Given the description of an element on the screen output the (x, y) to click on. 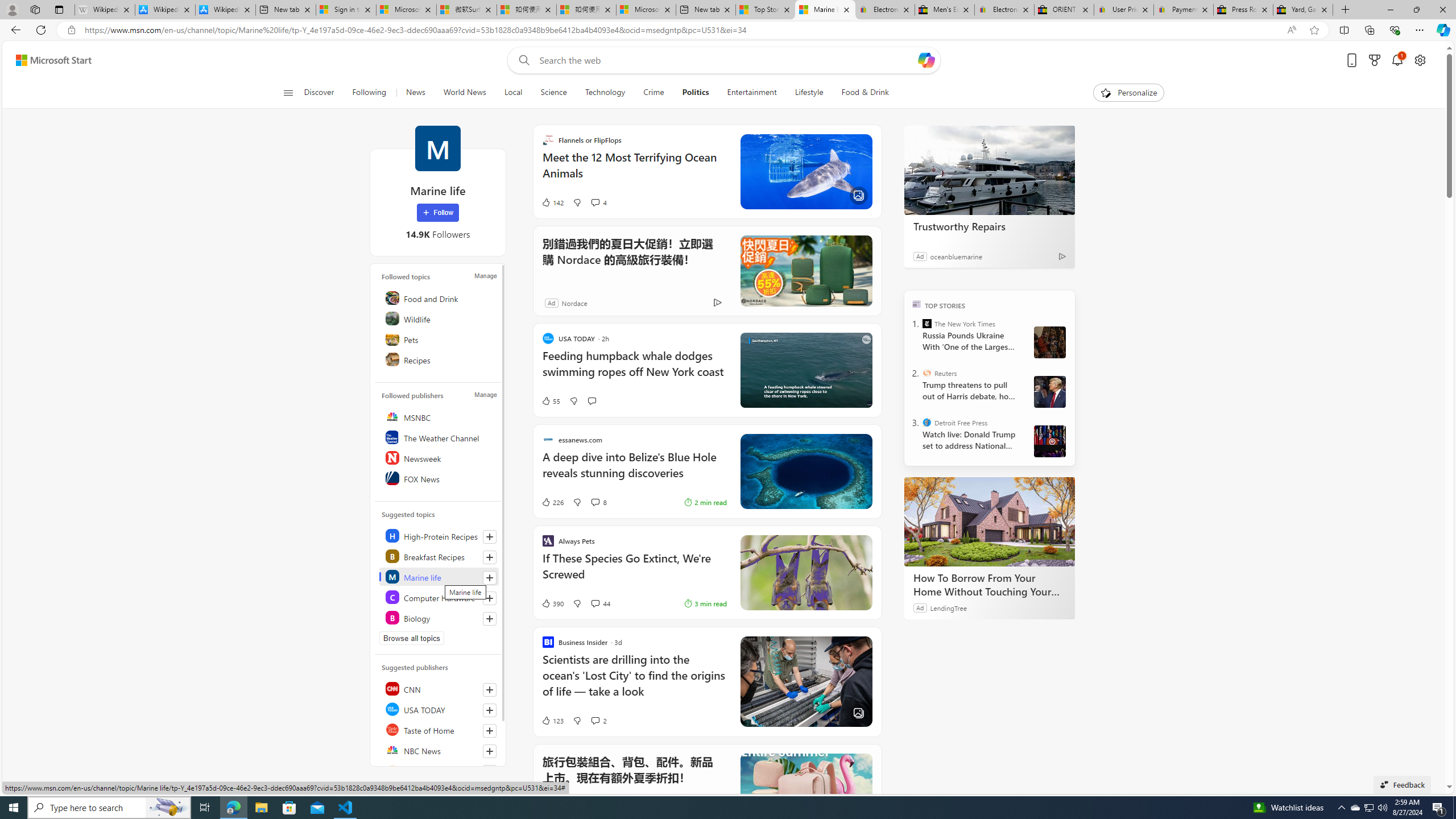
View comments 4 Comment (598, 202)
oceanbluemarine (956, 256)
Follow this source (489, 771)
NBC News (439, 750)
